Given the description of an element on the screen output the (x, y) to click on. 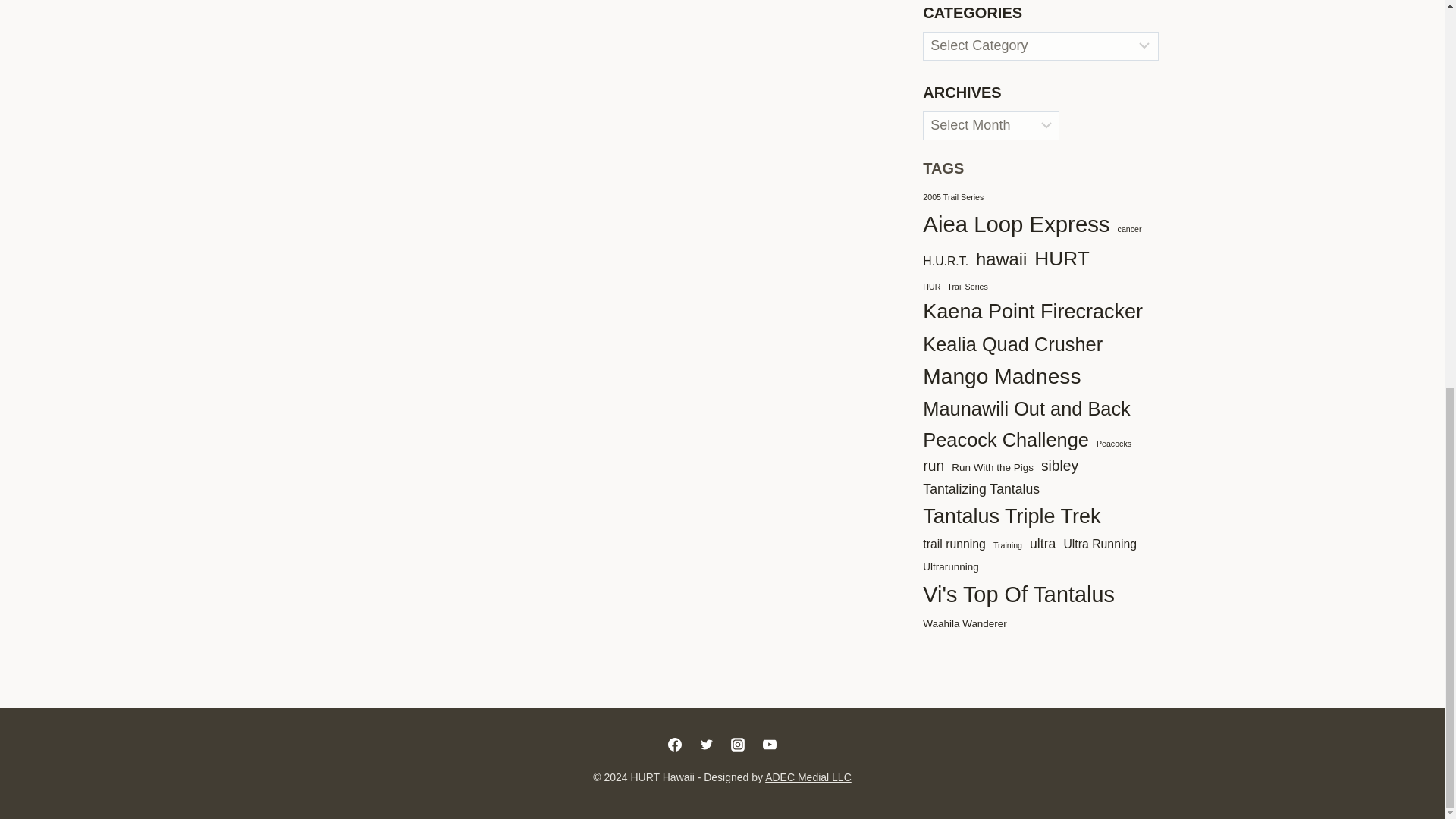
Aiea Loop Express (1016, 224)
Kealia Quad Crusher (1012, 344)
HURT (1061, 258)
HURT Trail Series (955, 286)
cancer (1129, 228)
2005 Trail Series (953, 196)
H.U.R.T. (945, 261)
hawaii (1000, 259)
Kaena Point Firecracker (1032, 311)
